Given the description of an element on the screen output the (x, y) to click on. 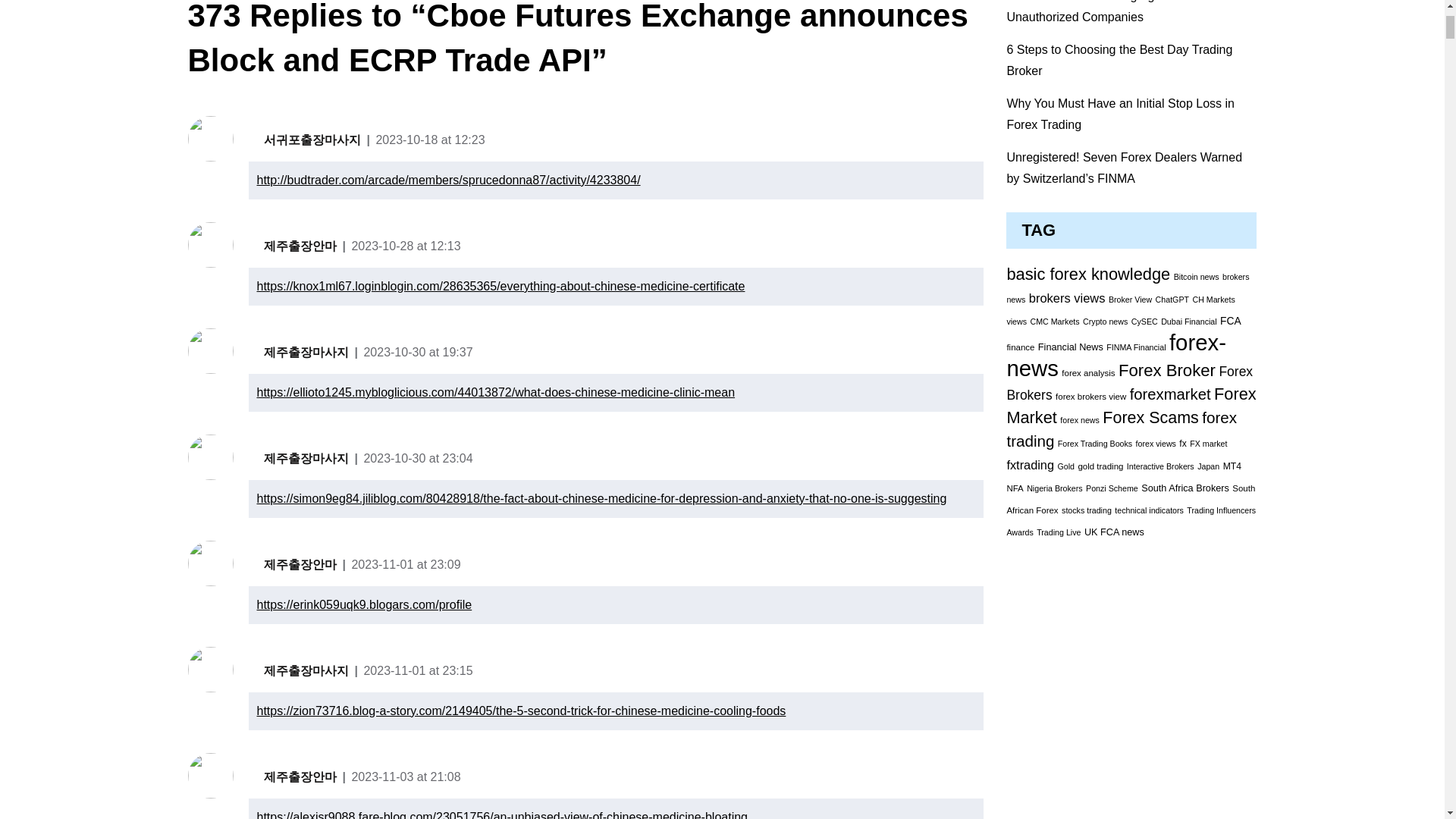
2023-11-03 at 21:08 (405, 776)
2023-10-28 at 12:13 (405, 245)
2023-10-18 at 12:23 (429, 139)
2023-11-01 at 23:09 (405, 563)
2023-10-30 at 19:37 (416, 351)
2023-11-01 at 23:15 (416, 670)
2023-10-30 at 23:04 (416, 458)
